Given the description of an element on the screen output the (x, y) to click on. 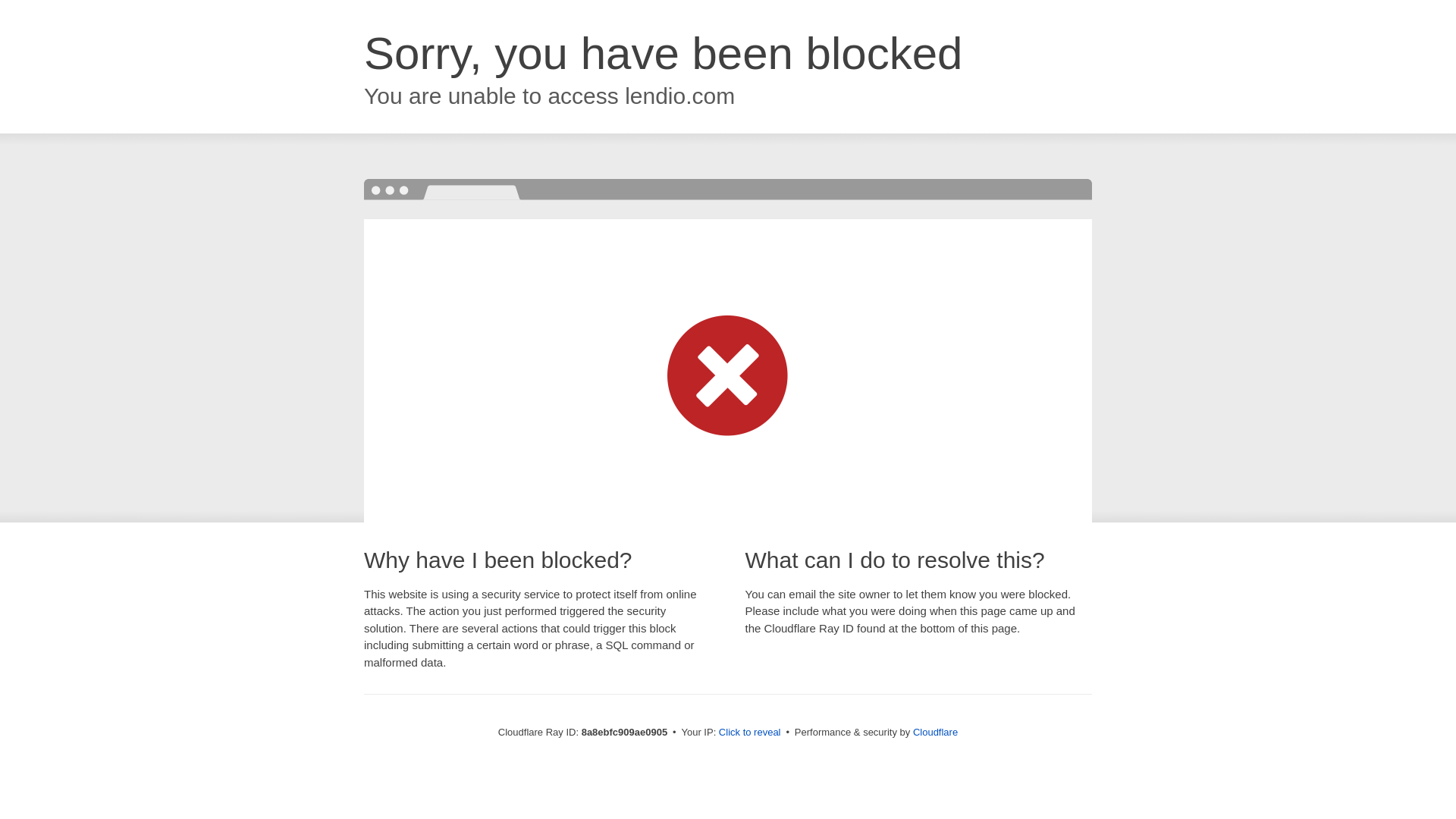
Click to reveal (749, 732)
Cloudflare (935, 731)
